Given the description of an element on the screen output the (x, y) to click on. 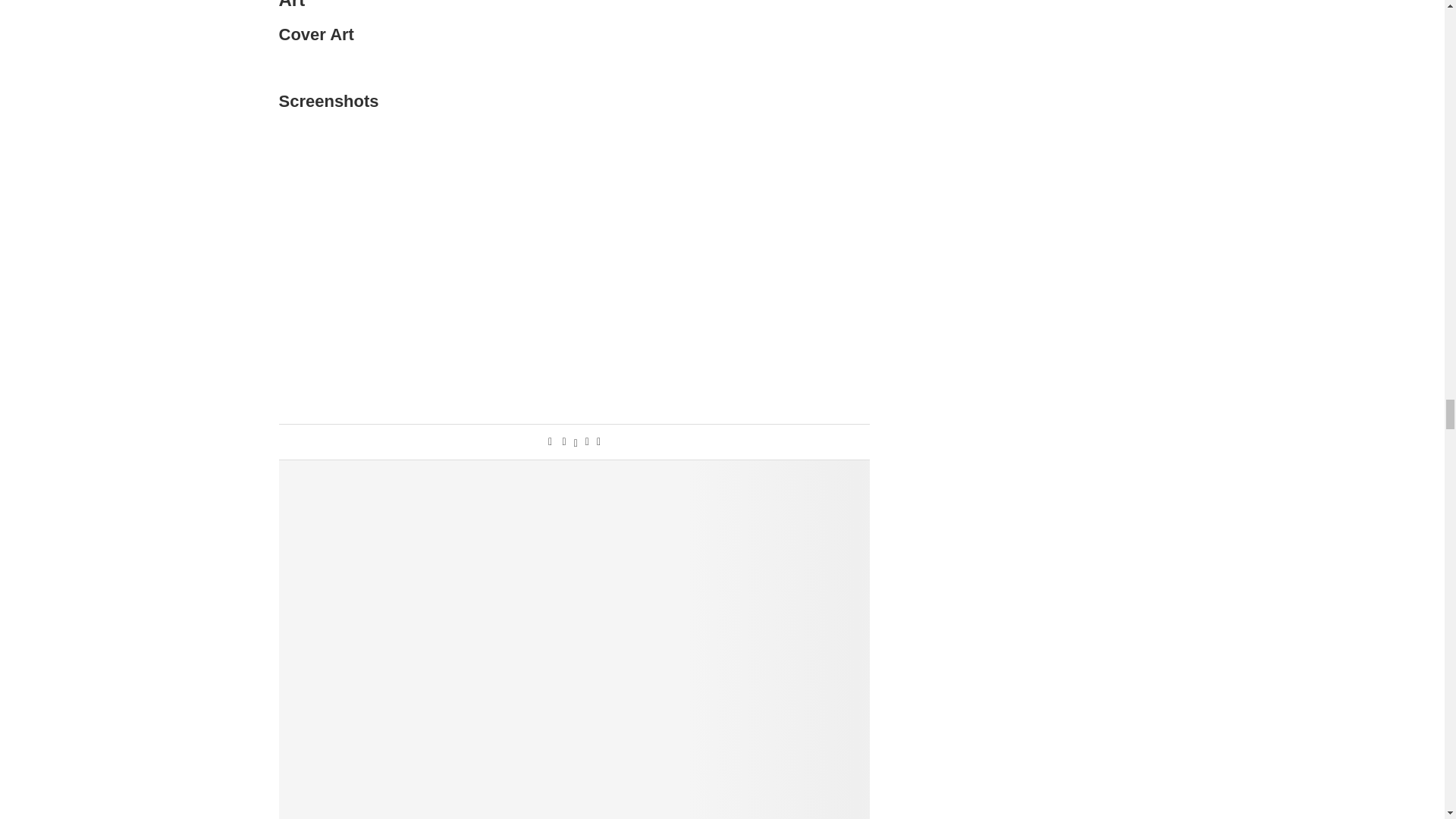
Like (549, 441)
